Given the description of an element on the screen output the (x, y) to click on. 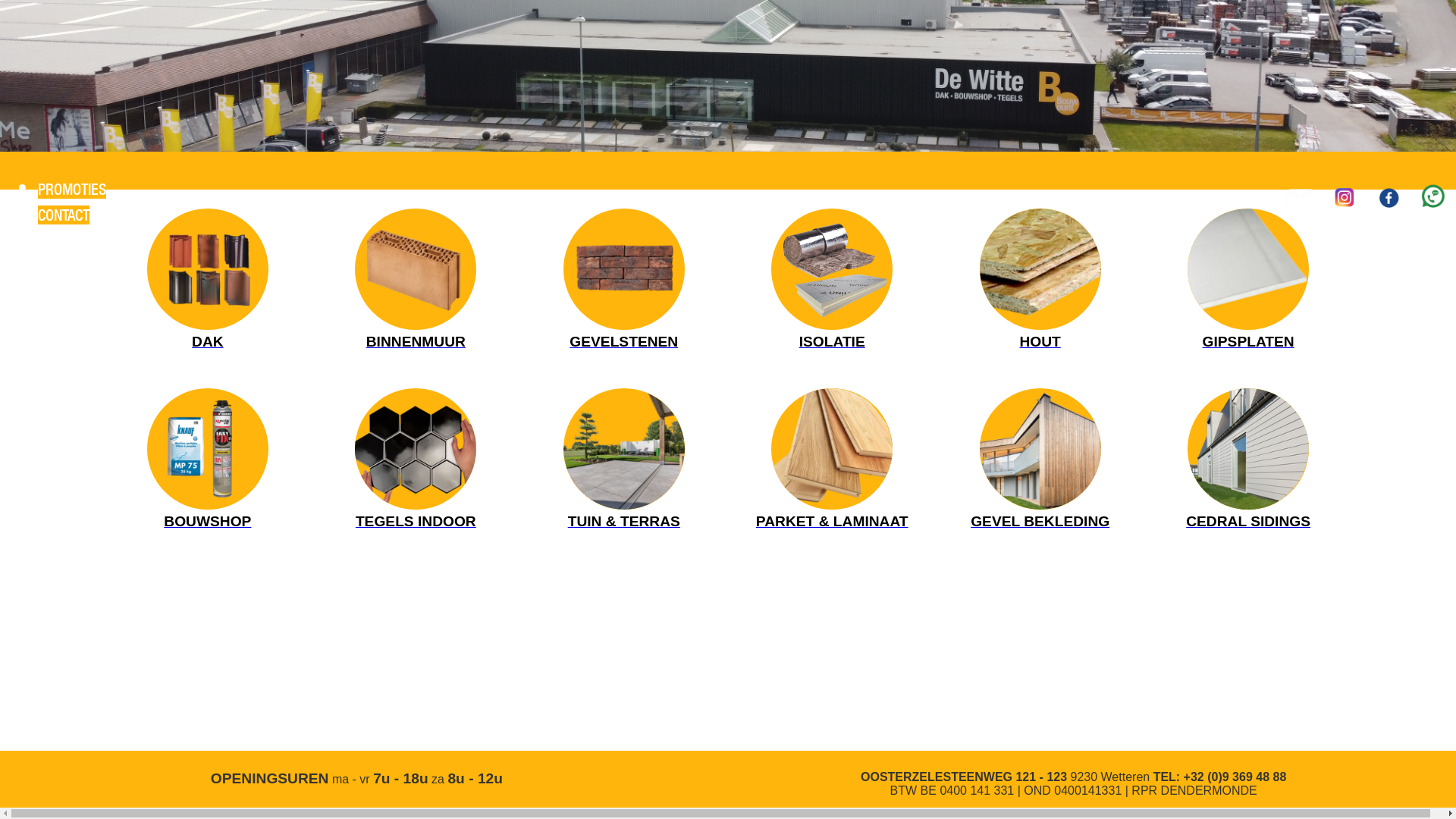
gipsplaten Element type: hover (1247, 268)
hout Element type: hover (1040, 268)
gevelstenen Element type: hover (623, 268)
gevel bekleding Element type: hover (1040, 448)
ISOLATIE Element type: text (831, 279)
TUIN & TERRAS Element type: text (623, 459)
tegels indoor Element type: hover (415, 448)
BINNENMUUR Element type: text (415, 279)
isolatie Element type: hover (831, 268)
HOUT Element type: text (1040, 279)
parket & laminaat Element type: hover (831, 448)
dak Element type: hover (207, 268)
CONTACT Element type: text (63, 214)
tuin & terras Element type: hover (623, 448)
GIPSPLATEN Element type: text (1247, 279)
TEGELS INDOOR Element type: text (415, 459)
GEVEL BEKLEDING Element type: text (1040, 459)
bouwshop Element type: hover (207, 448)
binnenmuur Element type: hover (415, 268)
GEVELSTENEN Element type: text (623, 279)
PARKET & LAMINAAT Element type: text (831, 459)
DAK Element type: text (207, 279)
CEDRAL SIDINGS Element type: text (1247, 459)
BOUWPUNT DE WITTE Element type: text (731, 199)
BOUWSHOP Element type: text (207, 459)
PROMOTIES Element type: text (71, 188)
cedral sidings Element type: hover (1247, 448)
